Given the description of an element on the screen output the (x, y) to click on. 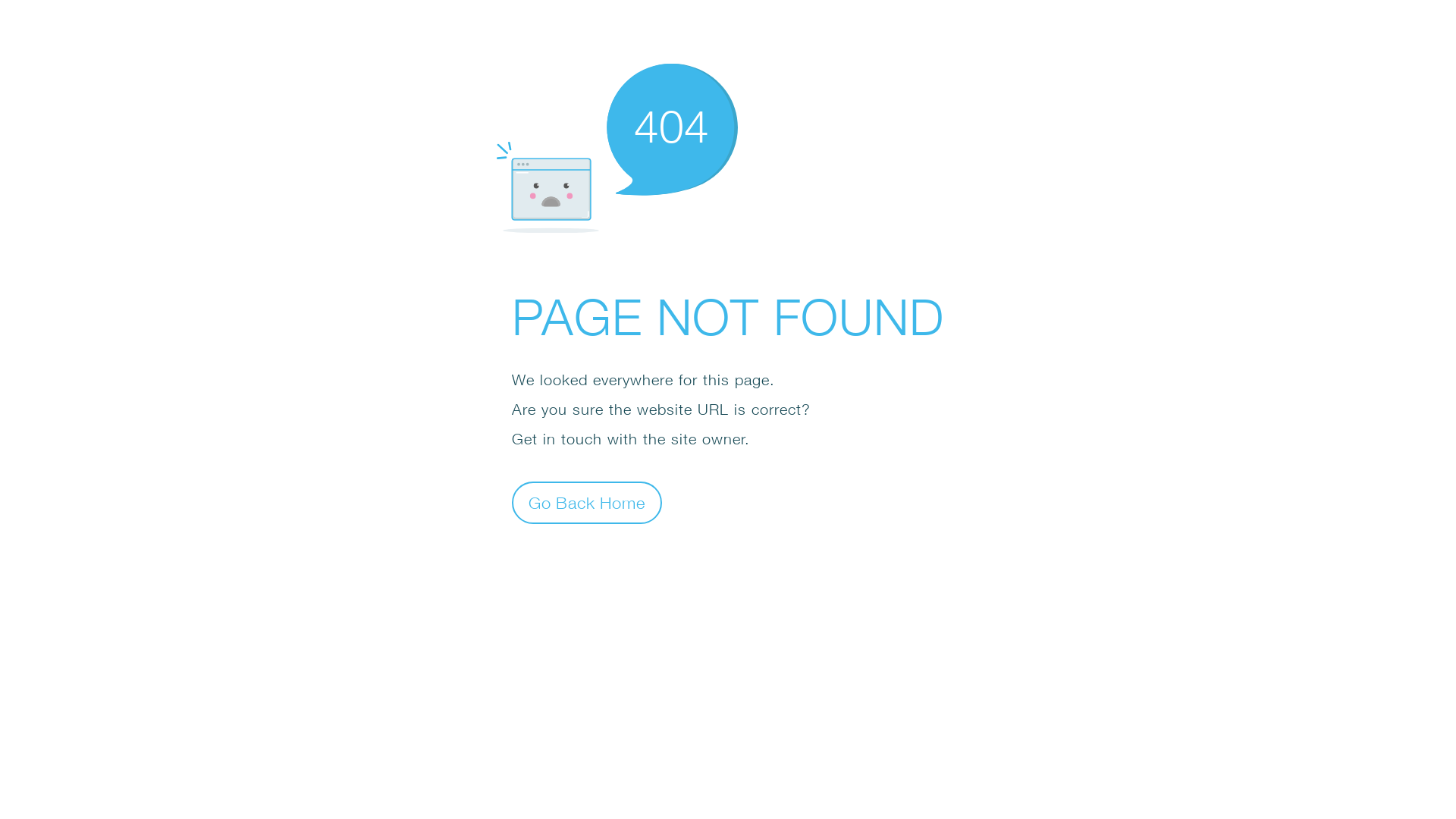
Go Back Home Element type: text (586, 502)
